Given the description of an element on the screen output the (x, y) to click on. 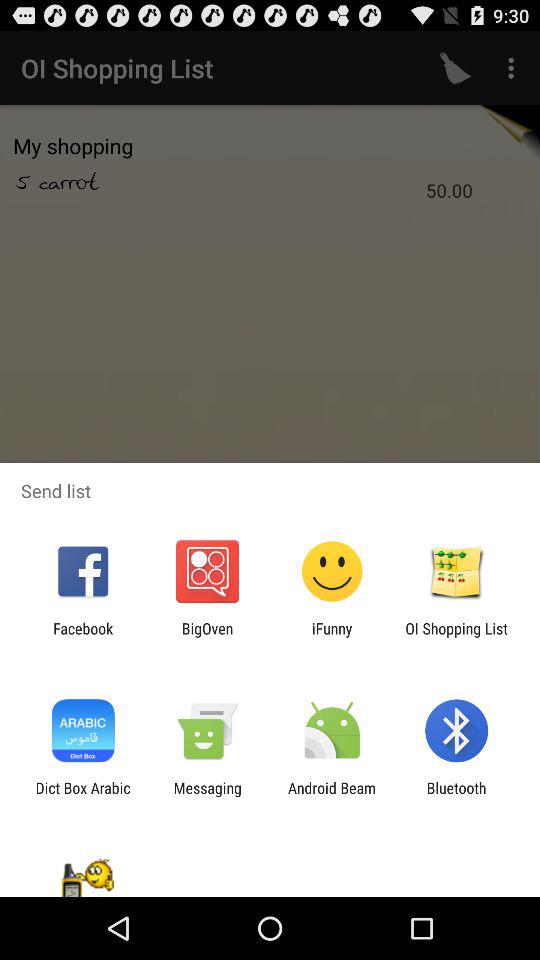
press messaging app (207, 796)
